Given the description of an element on the screen output the (x, y) to click on. 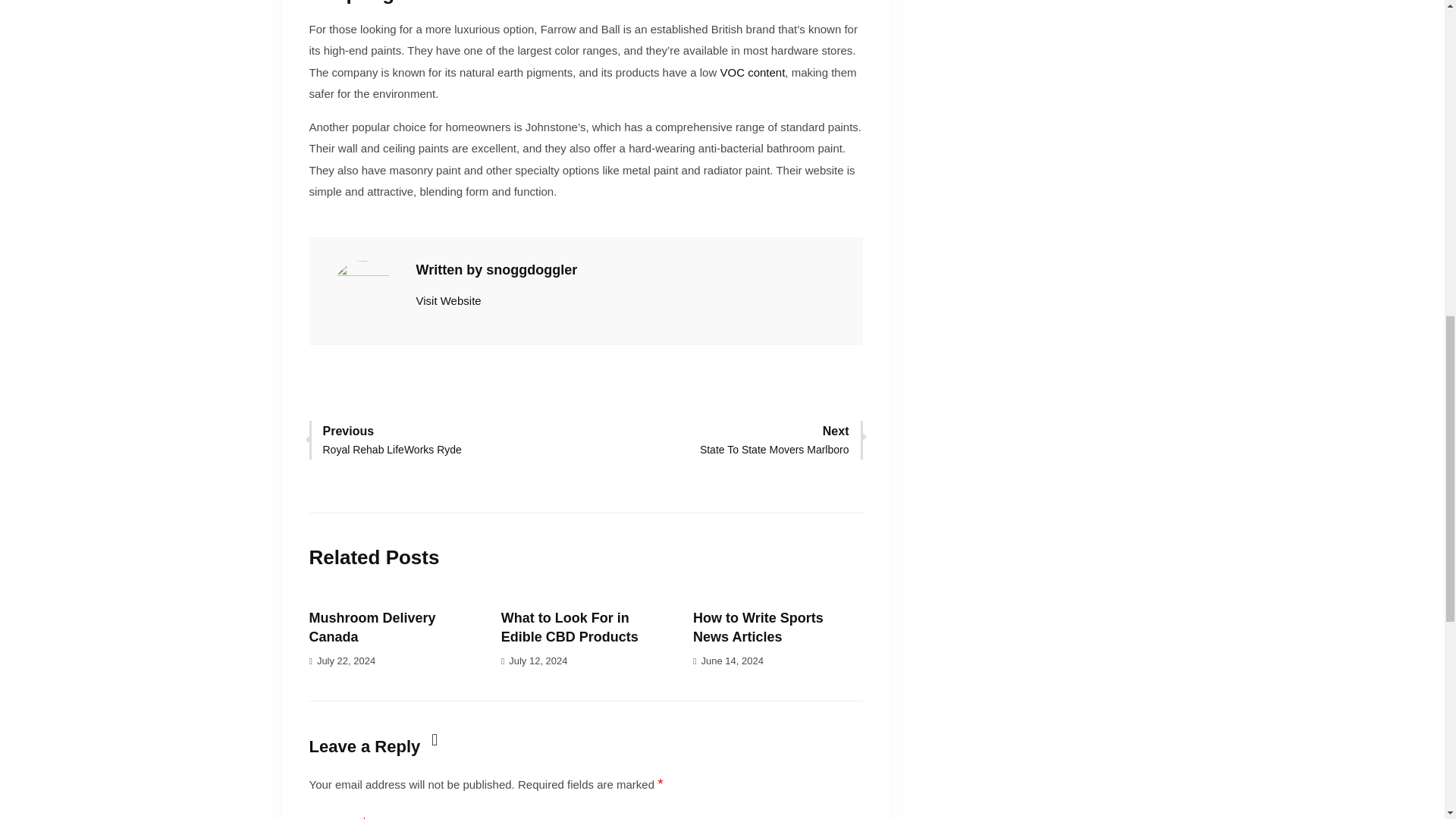
How to Write Sports News Articles (758, 627)
snoggdoggler (531, 269)
VOC content (392, 437)
Mushroom Delivery Canada (774, 437)
Posts by snoggdoggler (751, 72)
What to Look For in Edible CBD Products (371, 627)
Visit Website (531, 269)
